Given the description of an element on the screen output the (x, y) to click on. 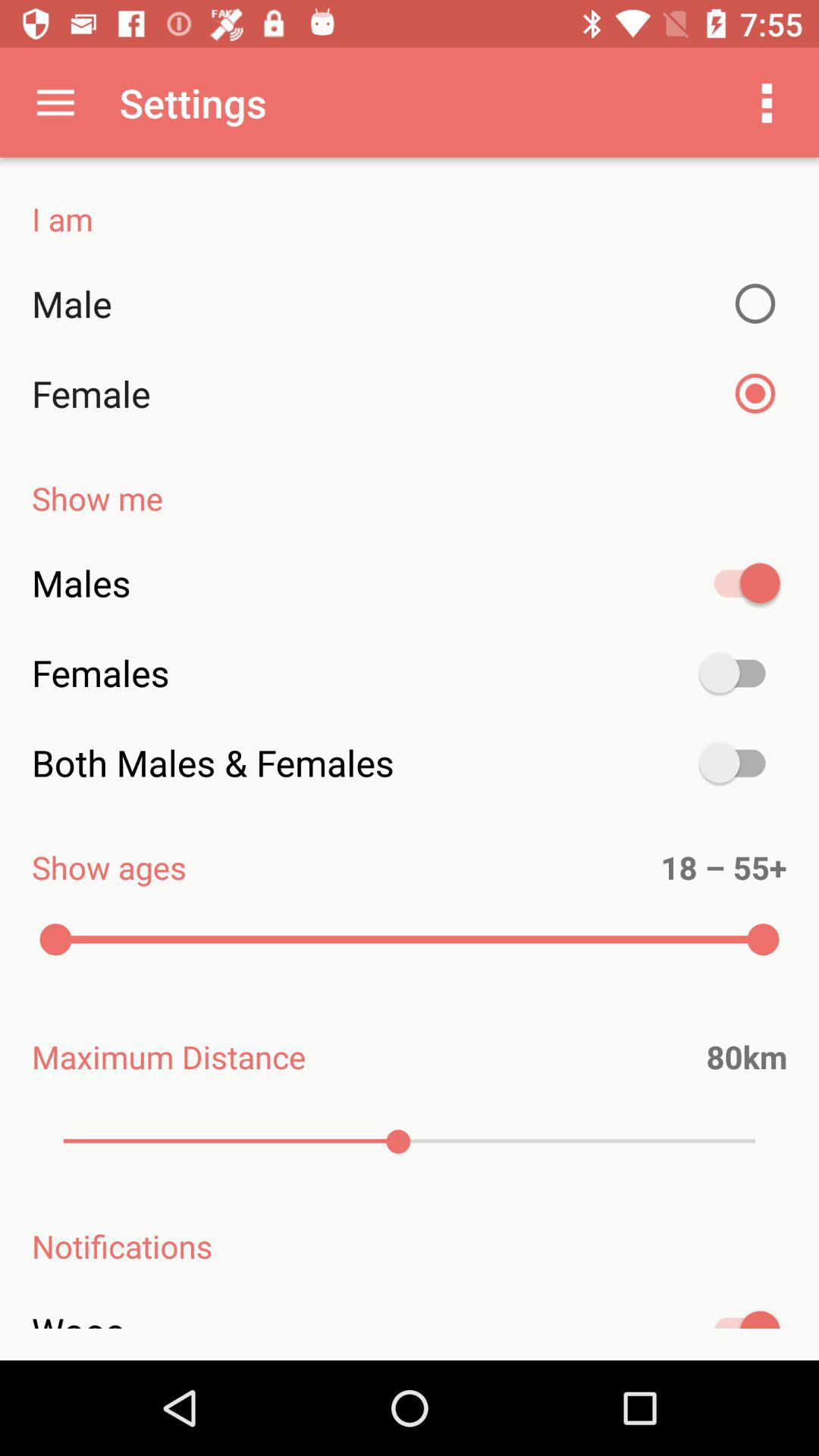
options menu (767, 102)
